Given the description of an element on the screen output the (x, y) to click on. 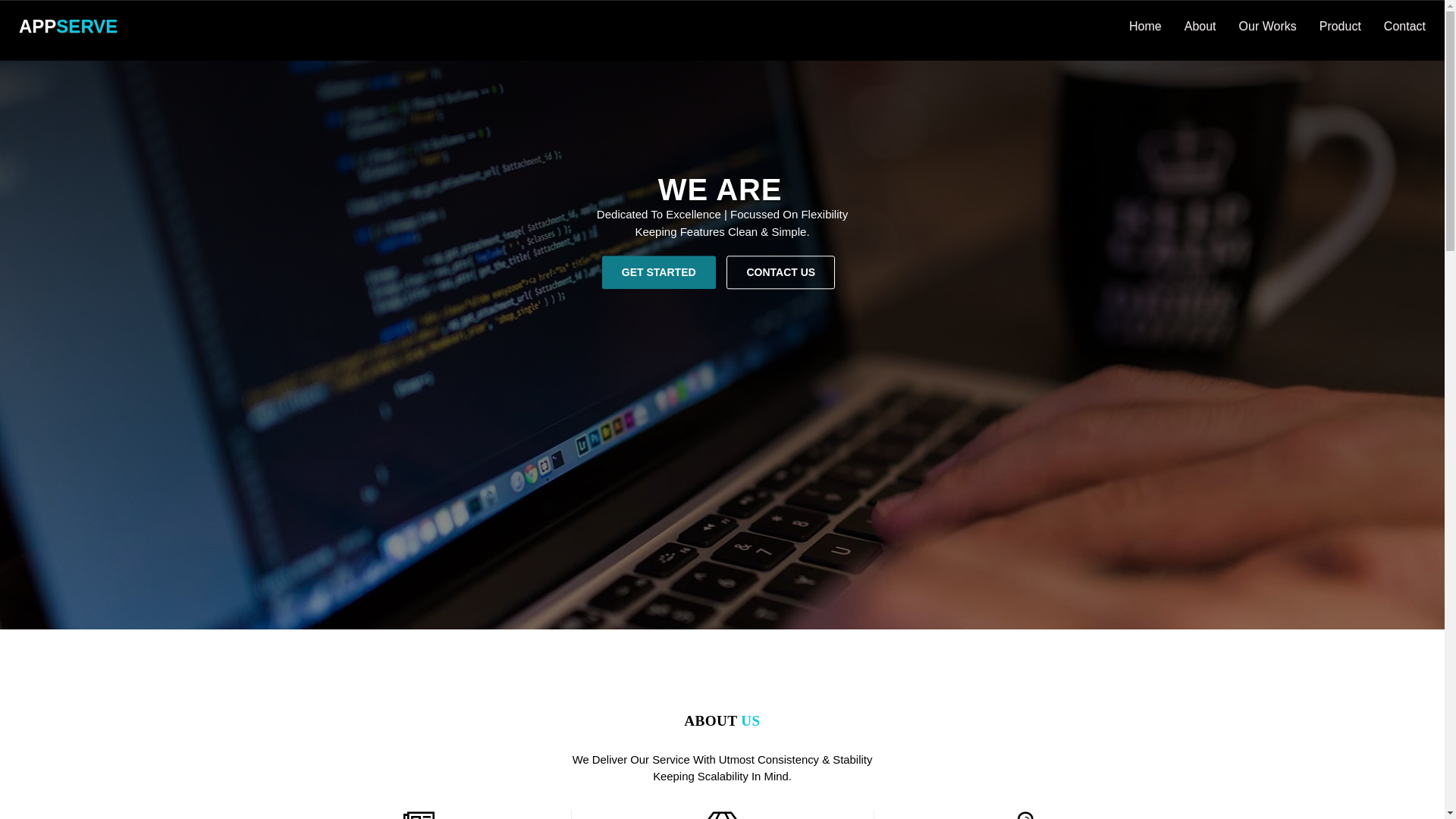
About Element type: text (1200, 26)
Contact Element type: text (1404, 26)
APPSERVE Element type: text (67, 26)
Our Works Element type: text (1267, 26)
Product Element type: text (1340, 26)
GET STARTED Element type: text (658, 271)
CONTACT US Element type: text (780, 271)
Home Element type: text (1145, 26)
